Given the description of an element on the screen output the (x, y) to click on. 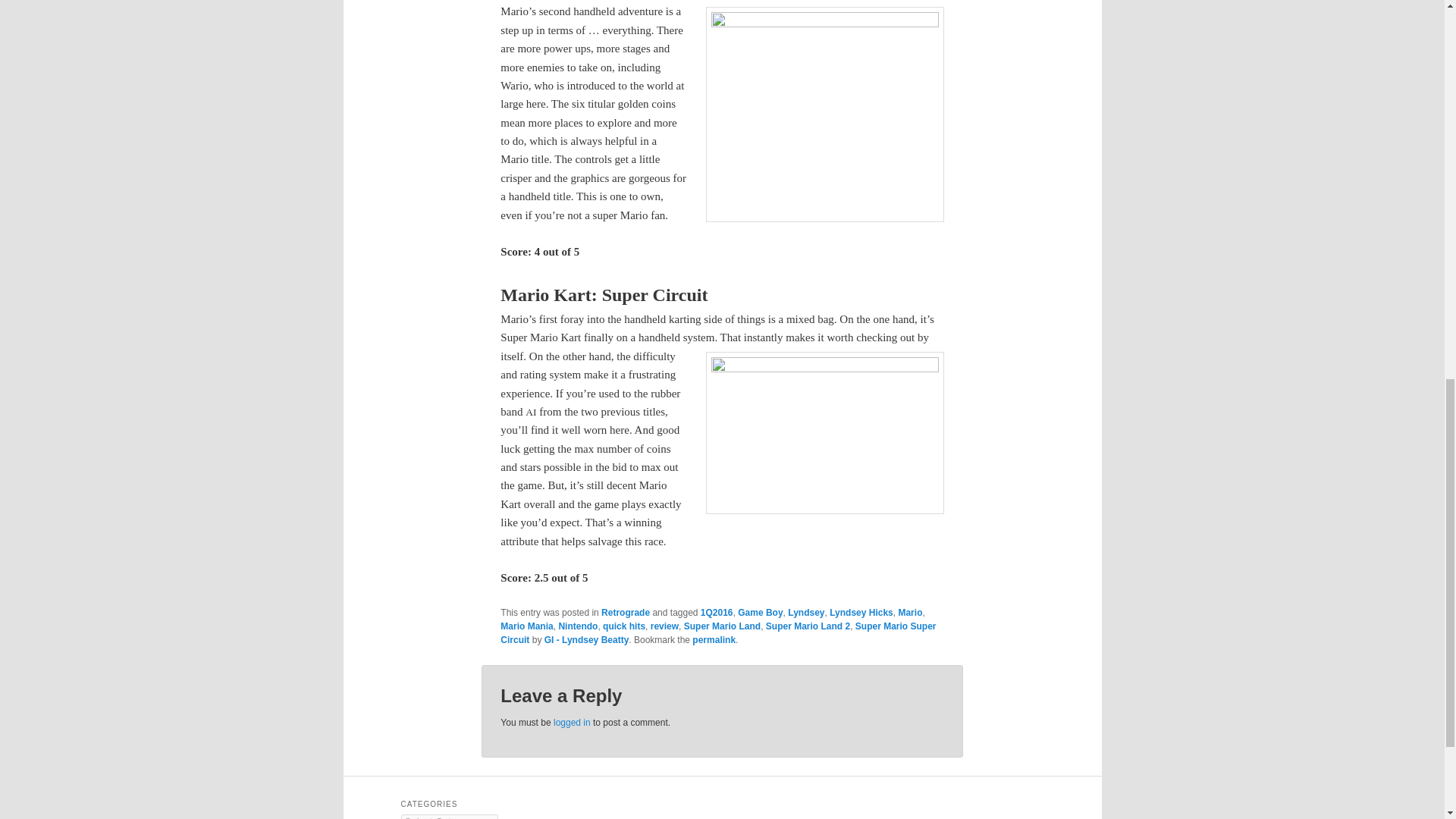
logged in (572, 722)
Retrograde (625, 612)
Super Mario Land (722, 625)
1Q2016 (716, 612)
Super Mario Super Circuit (718, 632)
Lyndsey (805, 612)
GI - Lyndsey Beatty (586, 639)
Nintendo (576, 625)
Lyndsey Hicks (861, 612)
quick hits (623, 625)
permalink (714, 639)
Mario Mania (526, 625)
review (664, 625)
Mario (909, 612)
Game Boy (760, 612)
